Given the description of an element on the screen output the (x, y) to click on. 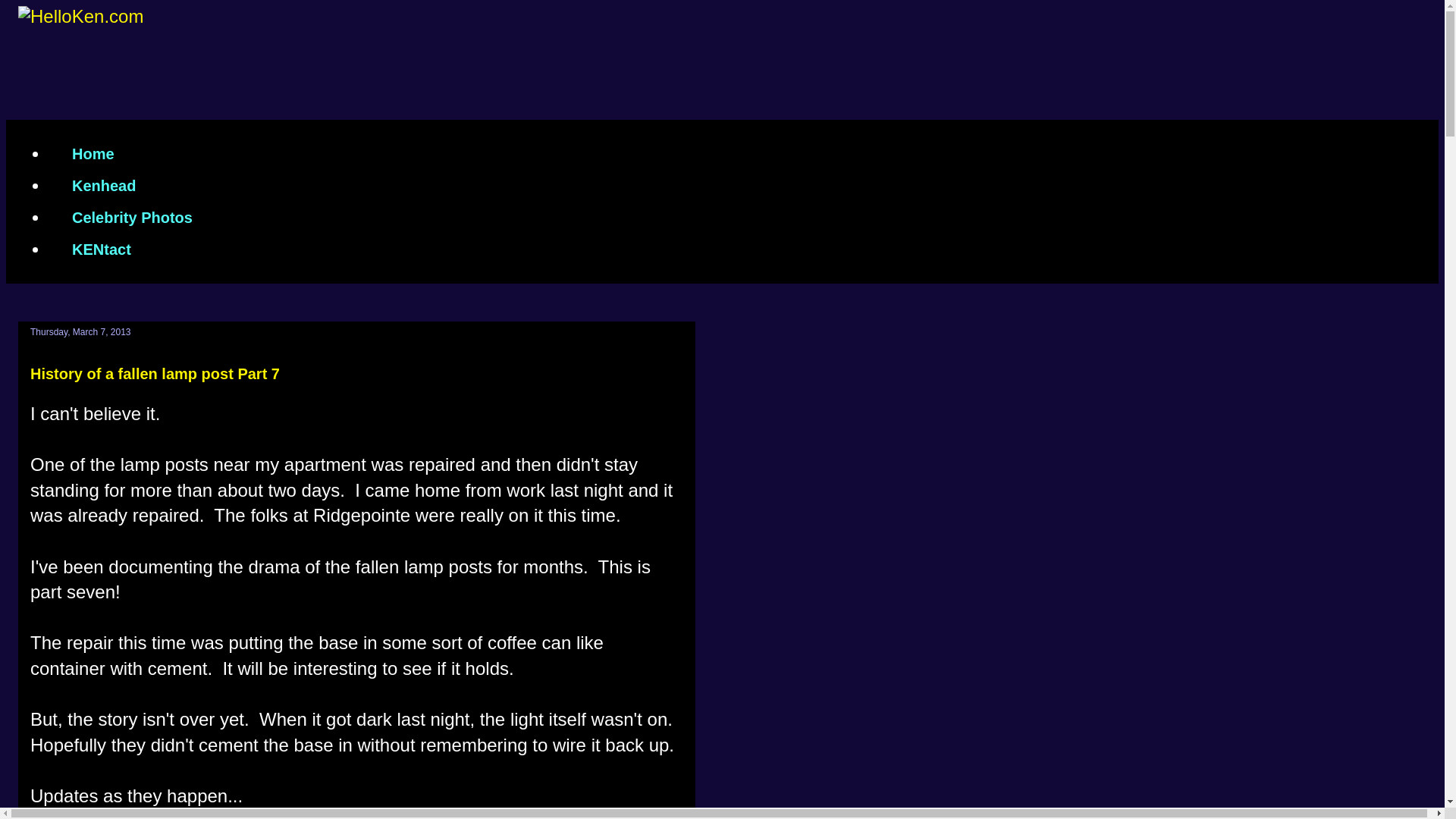
Kenhead (103, 185)
Celebrity Photos (131, 217)
KENtact (101, 249)
Home (92, 153)
